Given the description of an element on the screen output the (x, y) to click on. 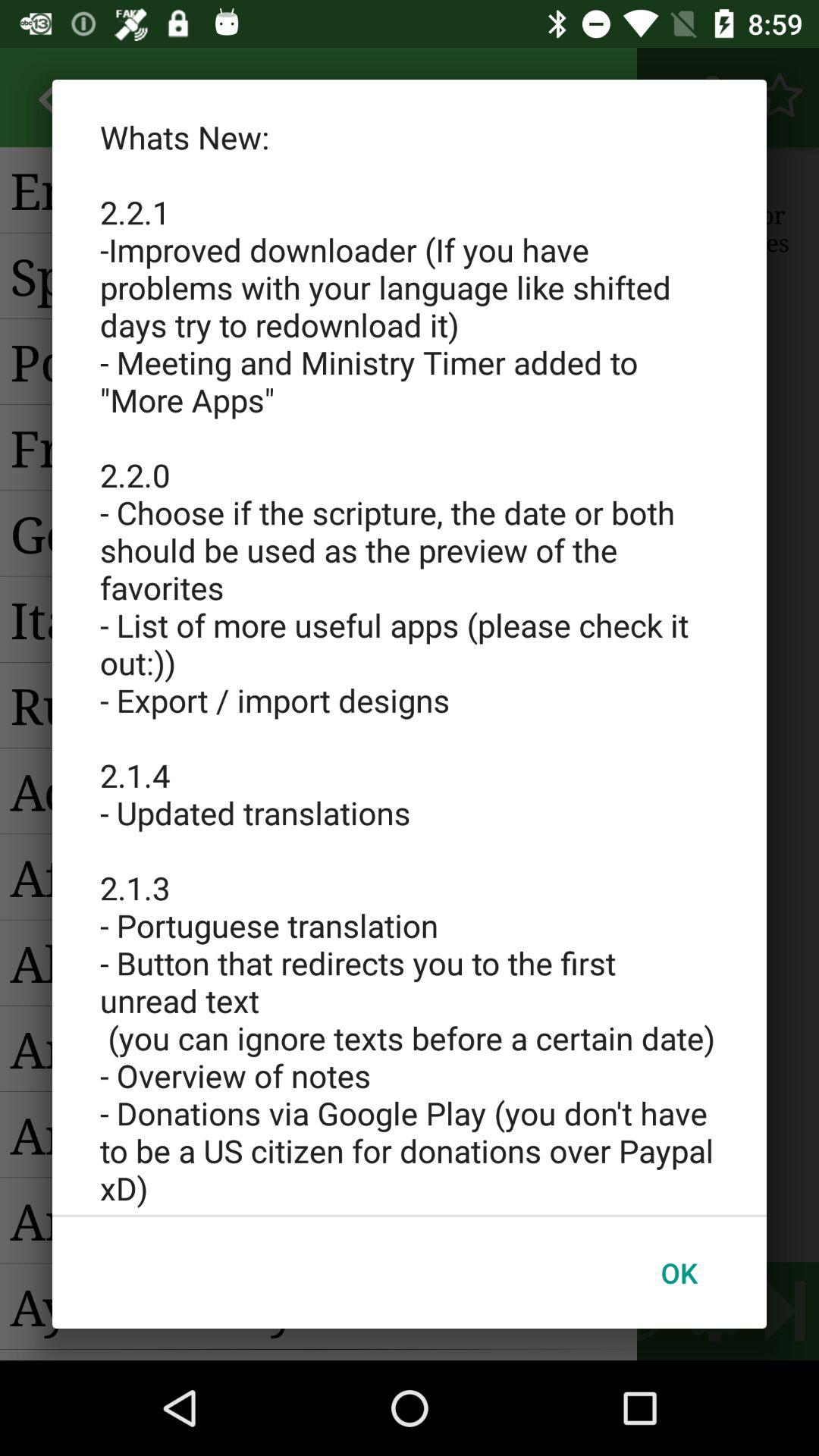
turn on the icon at the bottom right corner (678, 1272)
